Given the description of an element on the screen output the (x, y) to click on. 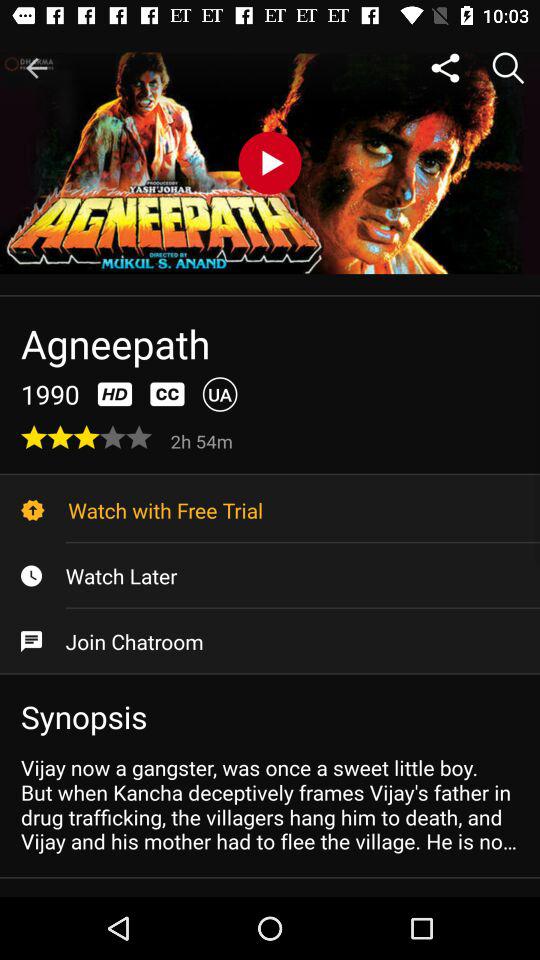
open the item above the watch with free (203, 440)
